Given the description of an element on the screen output the (x, y) to click on. 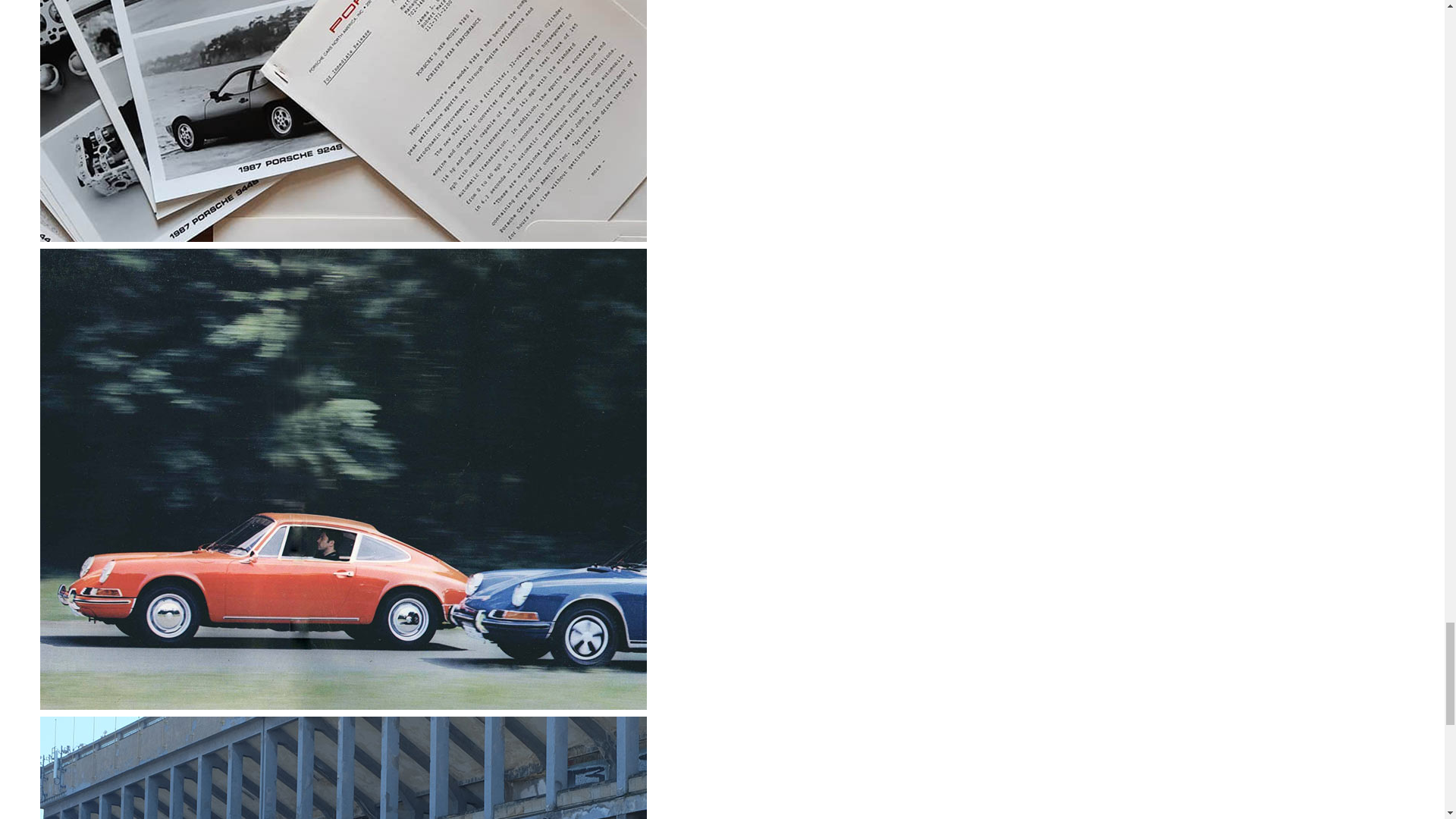
Porsche Literature (343, 705)
Porsche Press kit (343, 237)
